Given the description of an element on the screen output the (x, y) to click on. 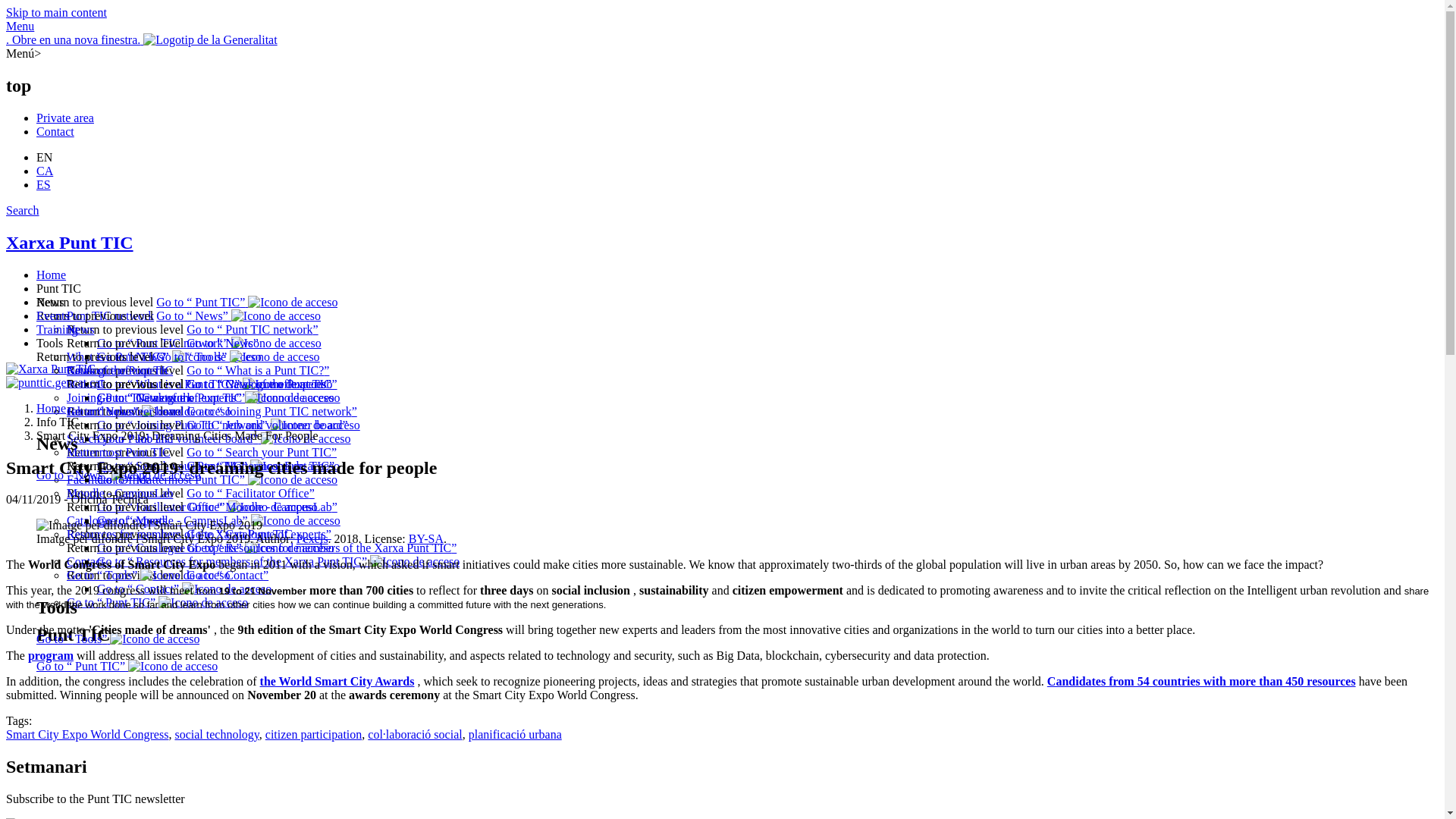
Return to previous level (126, 369)
Punt TIC (58, 287)
Search (22, 210)
Joining Punt TIC network (271, 410)
What is a Punt TIC? (115, 356)
ES (43, 184)
What is a Punt TIC? (214, 383)
Punt TIC network (251, 328)
Punt TIC (246, 301)
Return to previous level (126, 410)
Search your Punt TIC (119, 438)
Menu (19, 25)
Xarxa Punt TIC (69, 242)
Return to previous level (126, 328)
CA (44, 170)
